Given the description of an element on the screen output the (x, y) to click on. 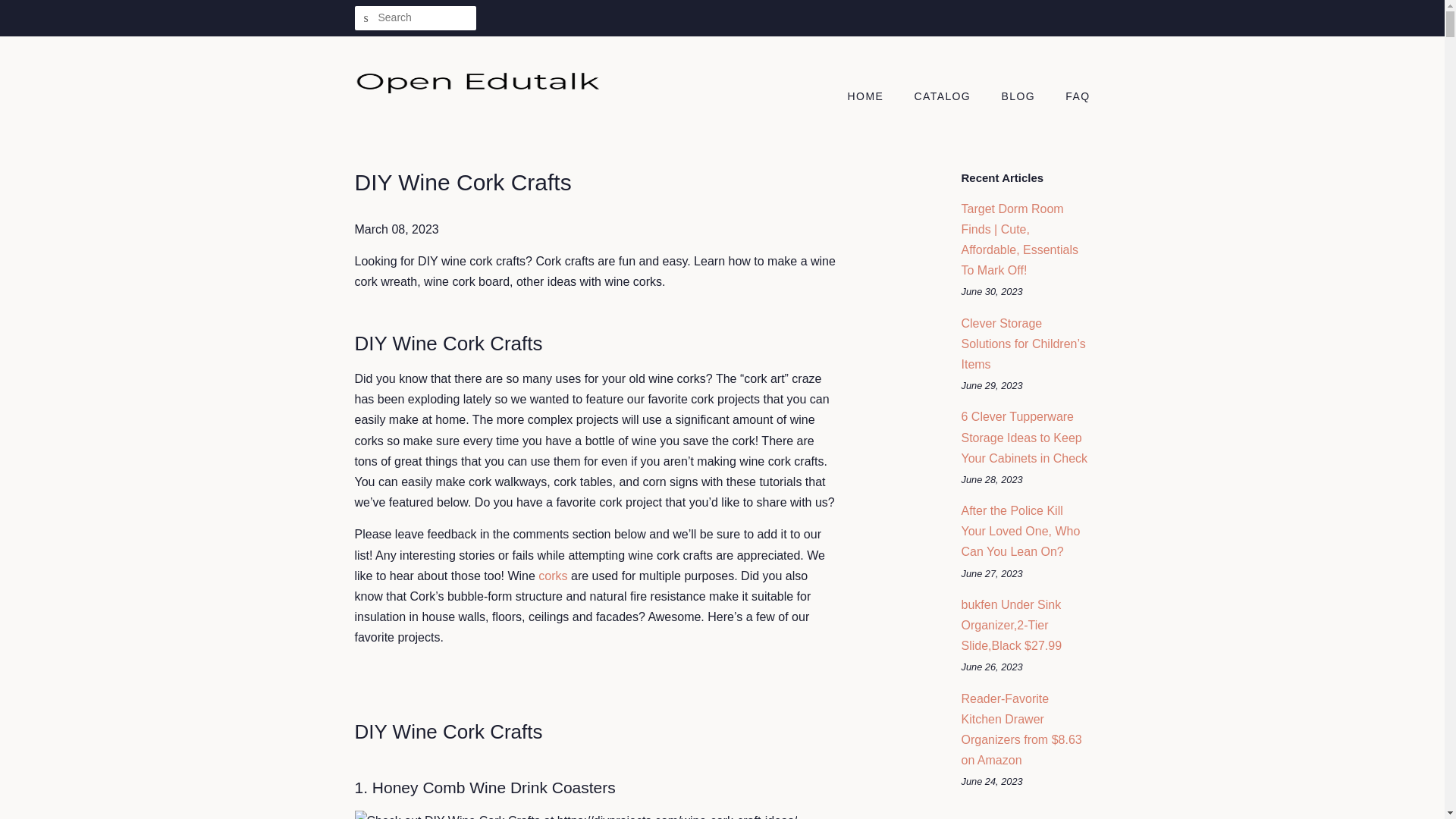
HOME (873, 96)
SEARCH (366, 18)
corks (552, 575)
BLOG (1019, 96)
CATALOG (944, 96)
FAQ (1071, 96)
